Given the description of an element on the screen output the (x, y) to click on. 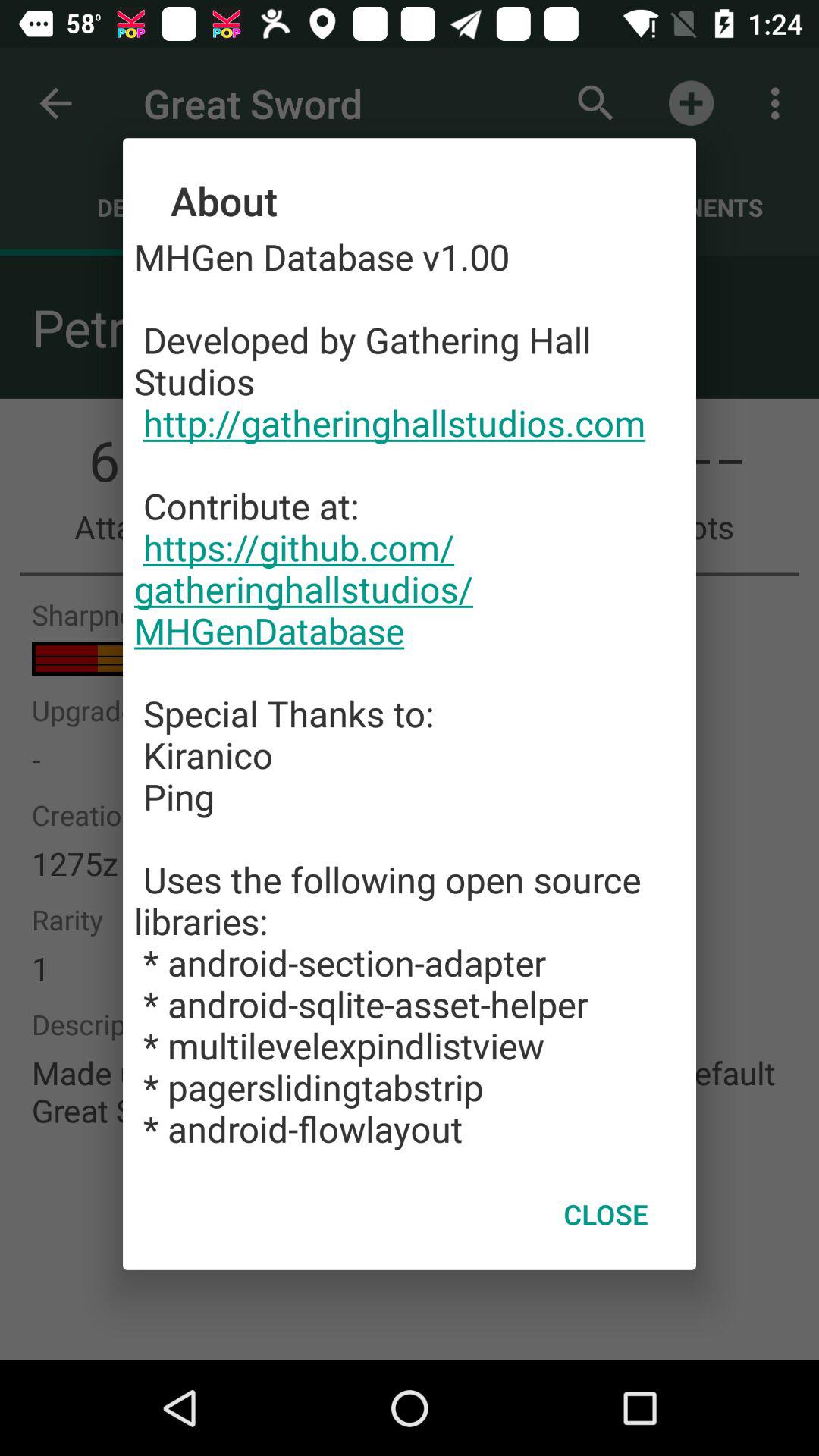
choose icon below the mhgen database v1 app (605, 1214)
